Given the description of an element on the screen output the (x, y) to click on. 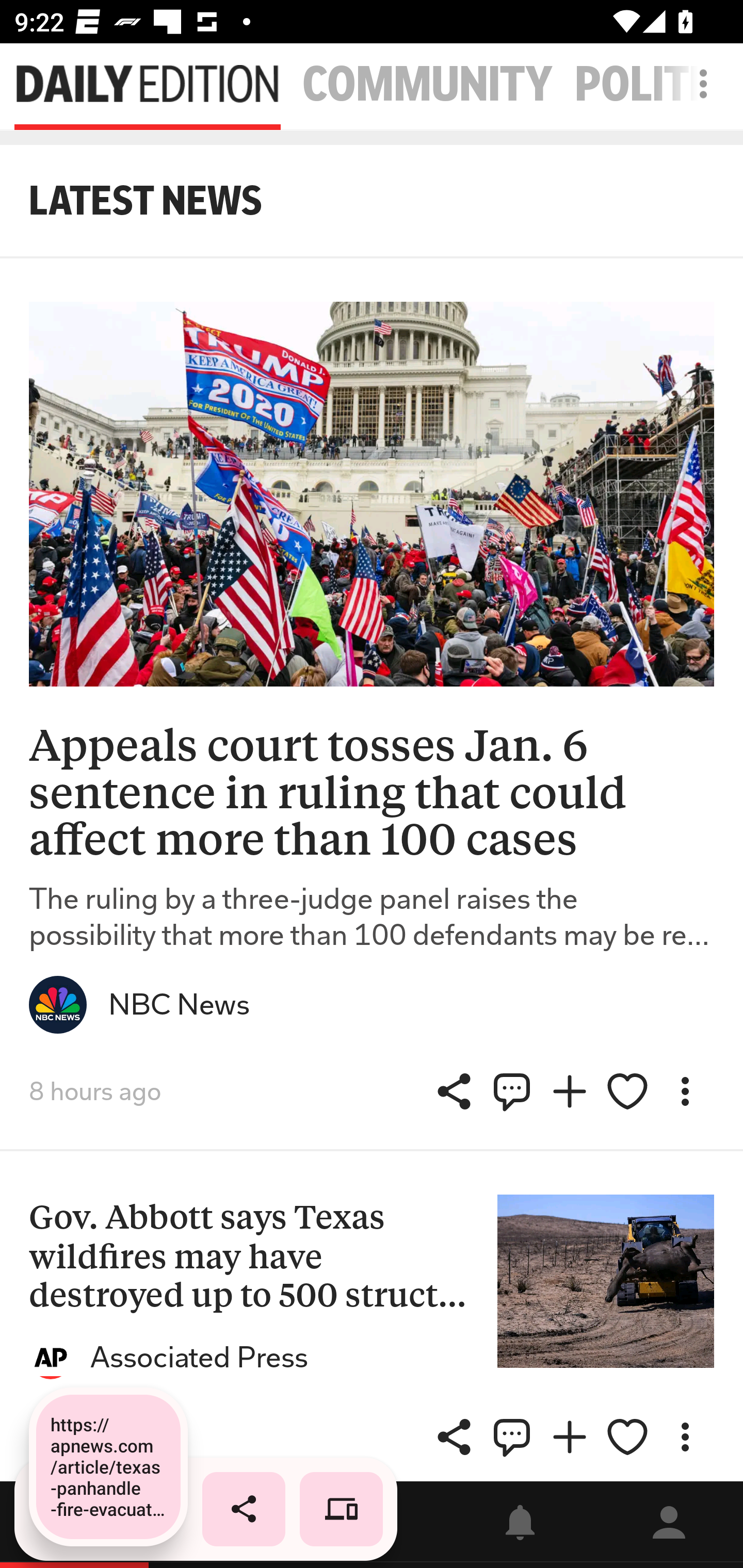
COMMUNITY (427, 84)
POLITICS (659, 84)
Edit Home (697, 83)
Share (453, 1091)
Share (511, 1091)
Flip into Magazine (569, 1091)
Like (627, 1091)
Options (685, 1091)
Share (453, 1437)
Share (511, 1437)
Flip into Magazine (569, 1437)
Like (627, 1437)
Options (685, 1437)
Notifications (519, 1524)
Profile (668, 1524)
